Given the description of an element on the screen output the (x, y) to click on. 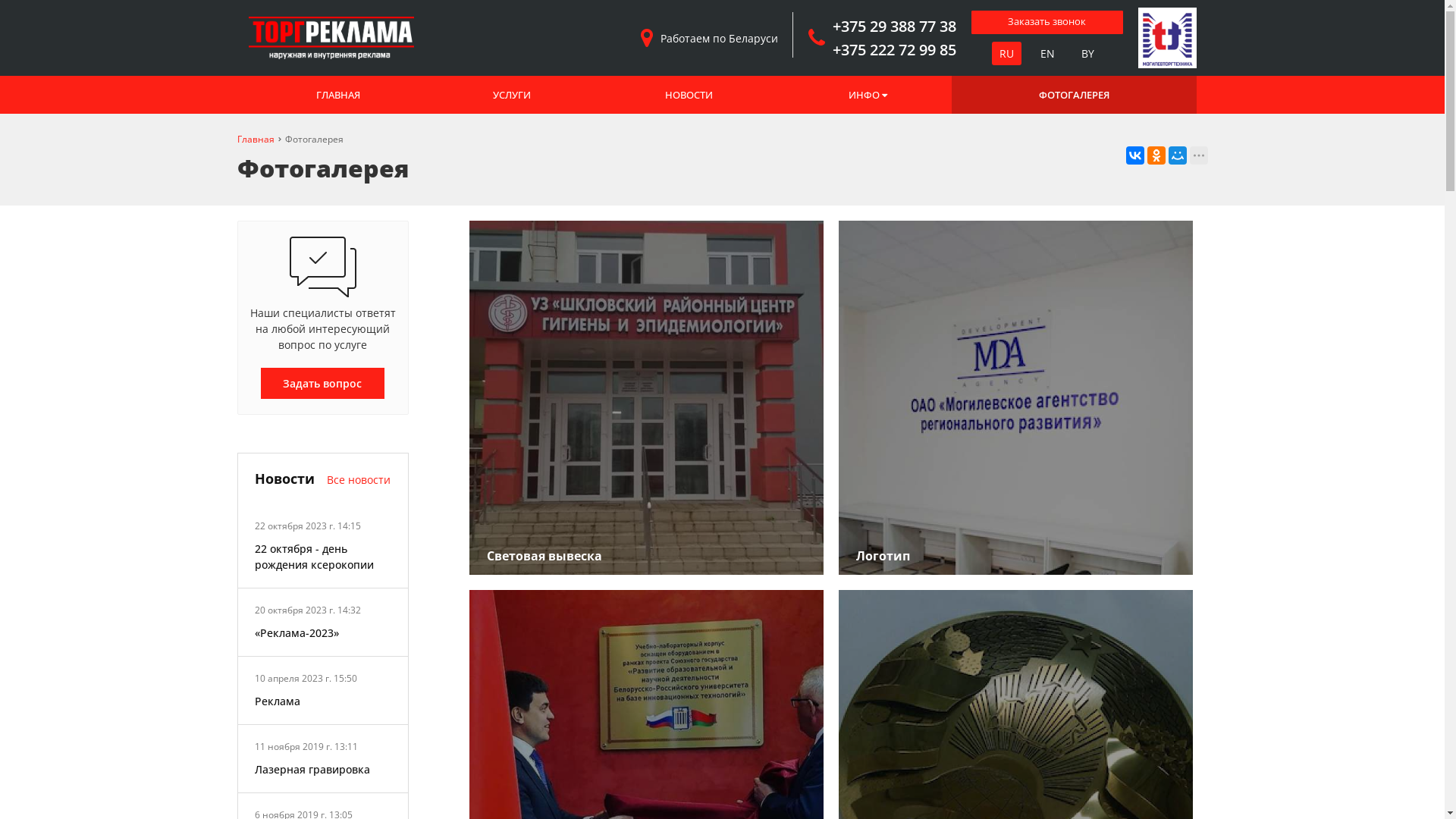
BY Element type: text (1087, 53)
EN Element type: text (1047, 53)
+375 222 72 99 85 Element type: text (896, 49)
+375 29 388 77 38 Element type: text (896, 25)
RU Element type: text (1006, 53)
